Given the description of an element on the screen output the (x, y) to click on. 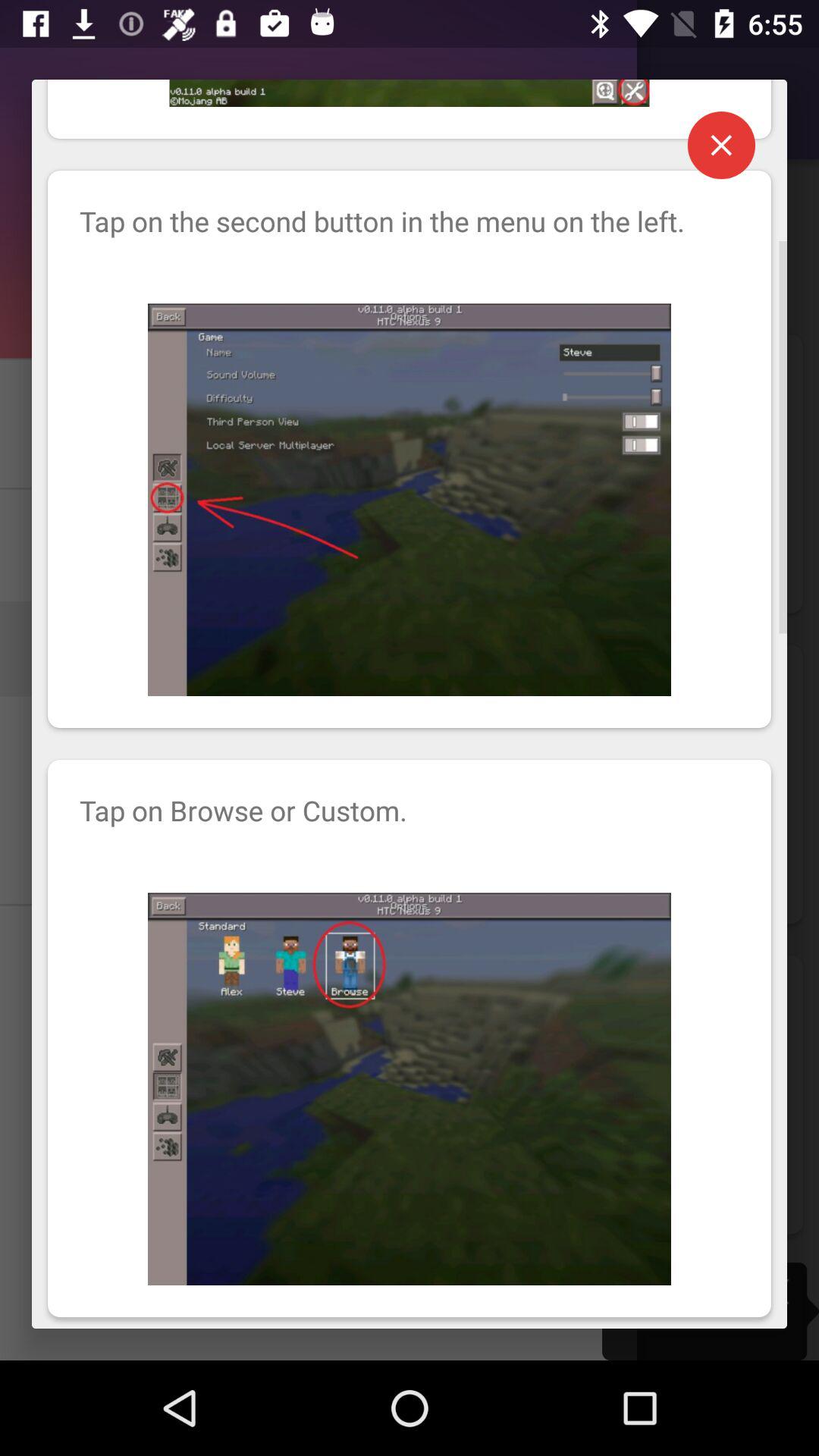
tap the item at the top right corner (721, 145)
